Given the description of an element on the screen output the (x, y) to click on. 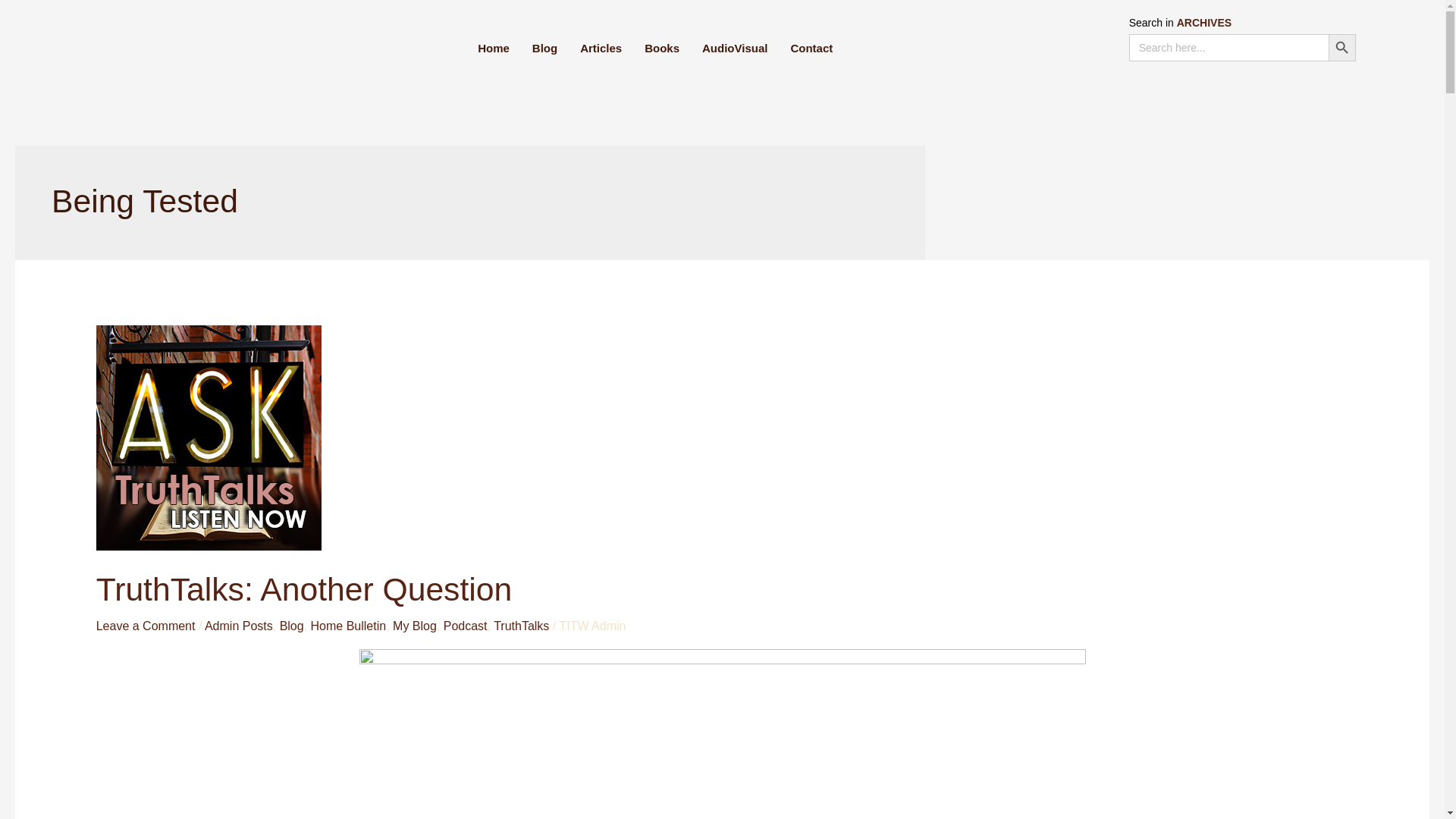
TruthTalks (520, 625)
TruthTalks: Another Question (304, 588)
Podcast (465, 625)
Home Bulletin (349, 625)
ARCHIVES (1203, 22)
View all posts by TITW Admin (592, 625)
Blog (291, 625)
Search Button (1341, 47)
Articles (601, 48)
TITW Admin (592, 625)
